Given the description of an element on the screen output the (x, y) to click on. 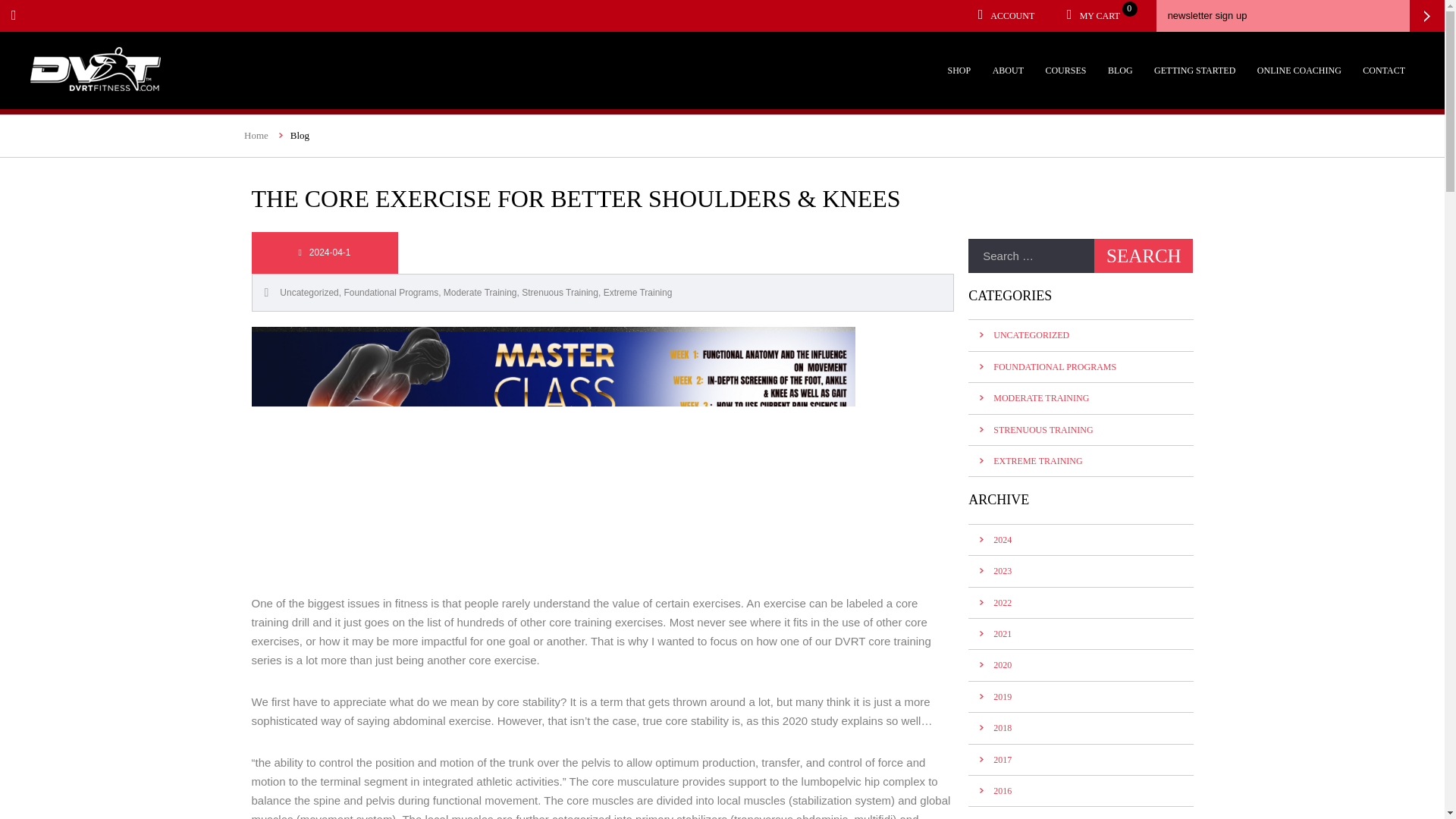
ACCOUNT (1006, 15)
ONLINE COACHING (1299, 70)
COURSES (1064, 70)
SHOP (959, 70)
EXTREME TRAINING (1036, 460)
Extreme Training (638, 292)
Search (1143, 255)
MODERATE TRAINING (1040, 398)
Search (1143, 255)
Search (1143, 255)
